Given the description of an element on the screen output the (x, y) to click on. 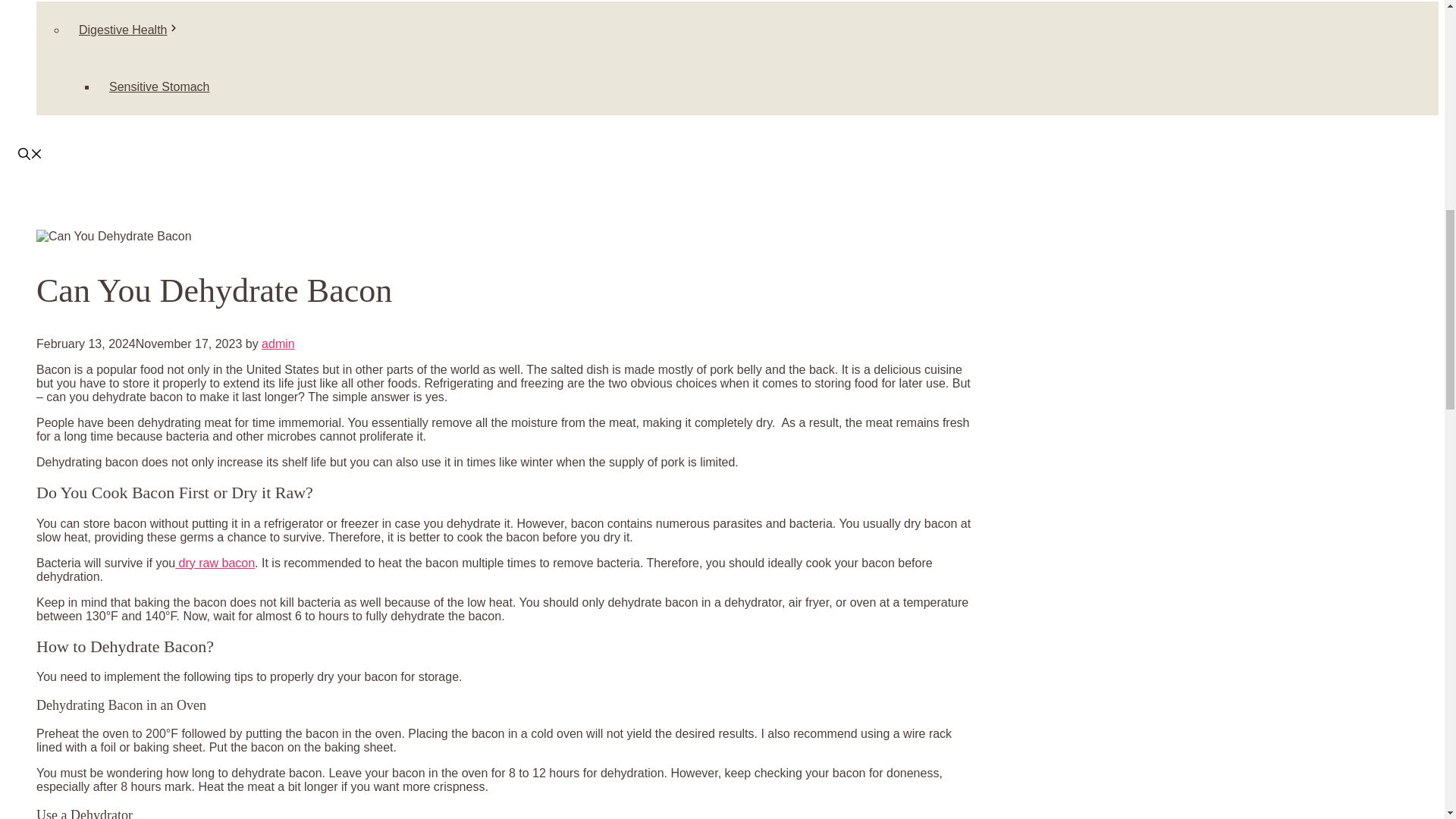
View all posts by admin (278, 343)
admin (278, 343)
Sensitive Stomach (159, 86)
Digestive Health (134, 29)
dry raw bacon (214, 562)
